Given the description of an element on the screen output the (x, y) to click on. 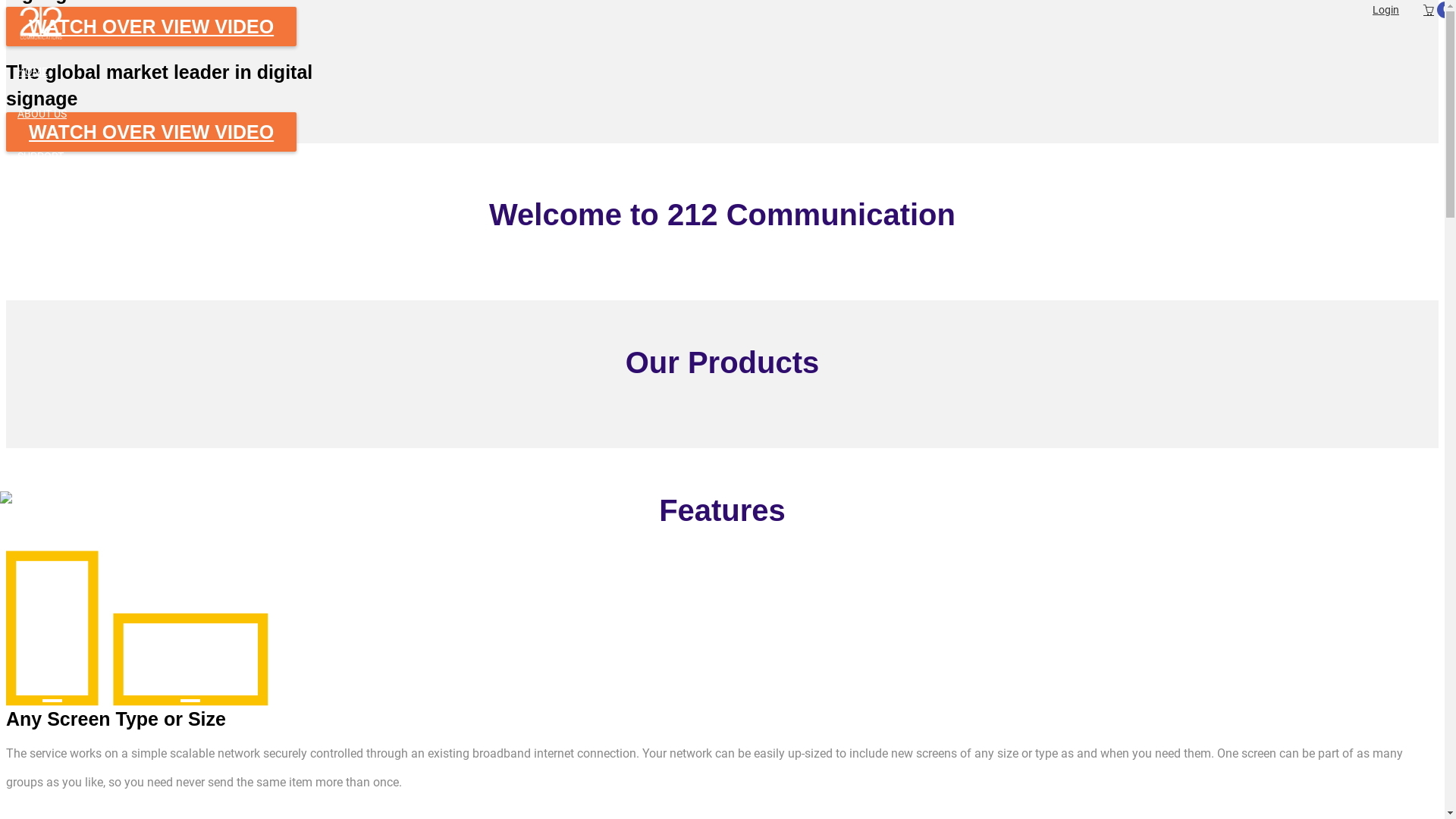
HOME Element type: text (730, 70)
0 Element type: text (1428, 10)
WATCH OVER VIEW VIDEO Element type: text (151, 131)
Login Element type: text (1385, 9)
SUPPORT Element type: text (730, 155)
DOWNLOADS Element type: text (730, 283)
ABOUT US Element type: text (730, 113)
CONTACT US Element type: text (730, 240)
PRODUCTS Element type: text (730, 198)
WATCH OVER VIEW VIDEO Element type: text (151, 26)
